Given the description of an element on the screen output the (x, y) to click on. 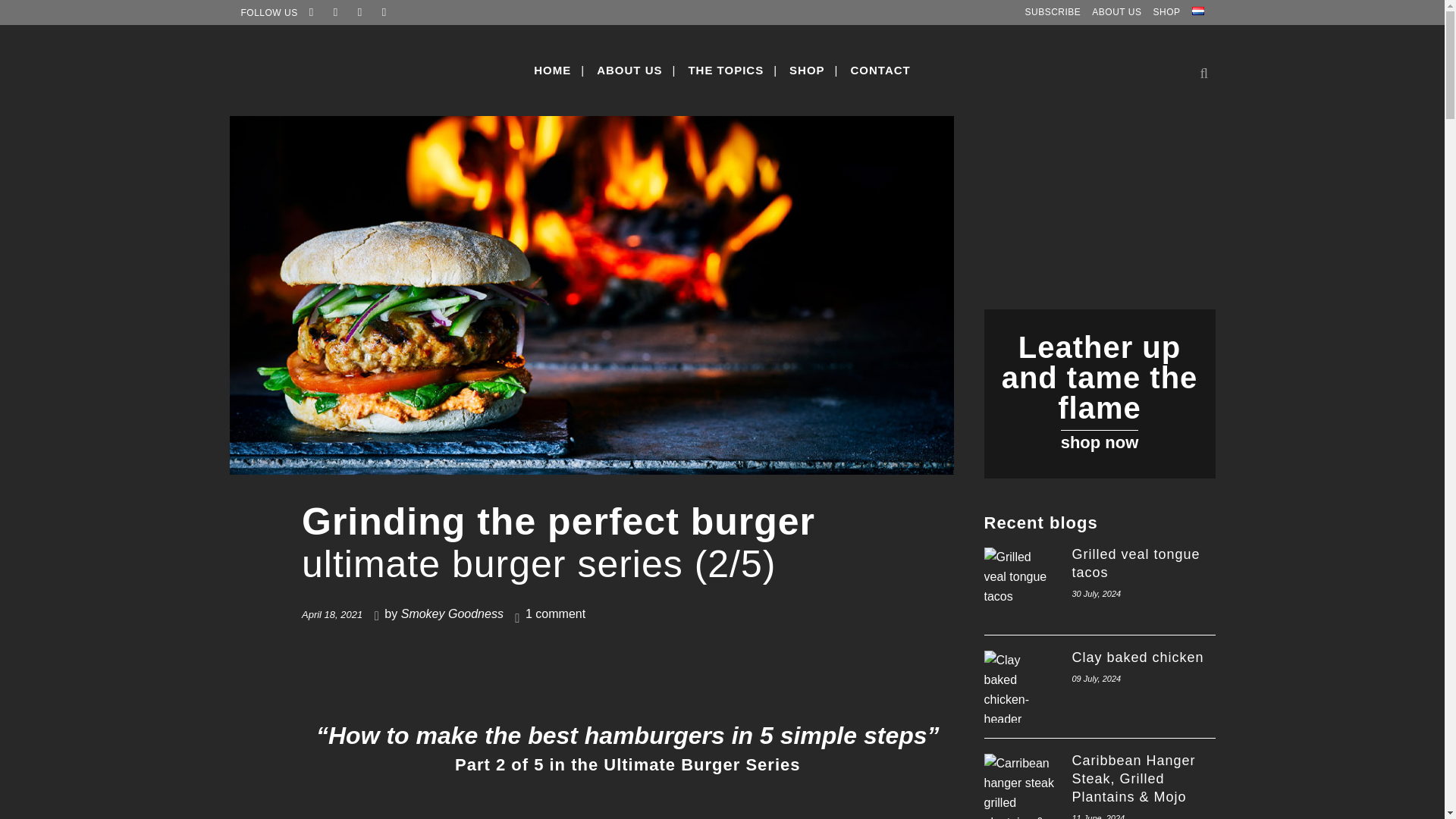
ABOUT US (1110, 12)
ABOUT US (628, 70)
THE TOPICS (725, 70)
CONTACT (880, 70)
SHOP (1160, 12)
SUBSCRIBE (1046, 12)
